Given the description of an element on the screen output the (x, y) to click on. 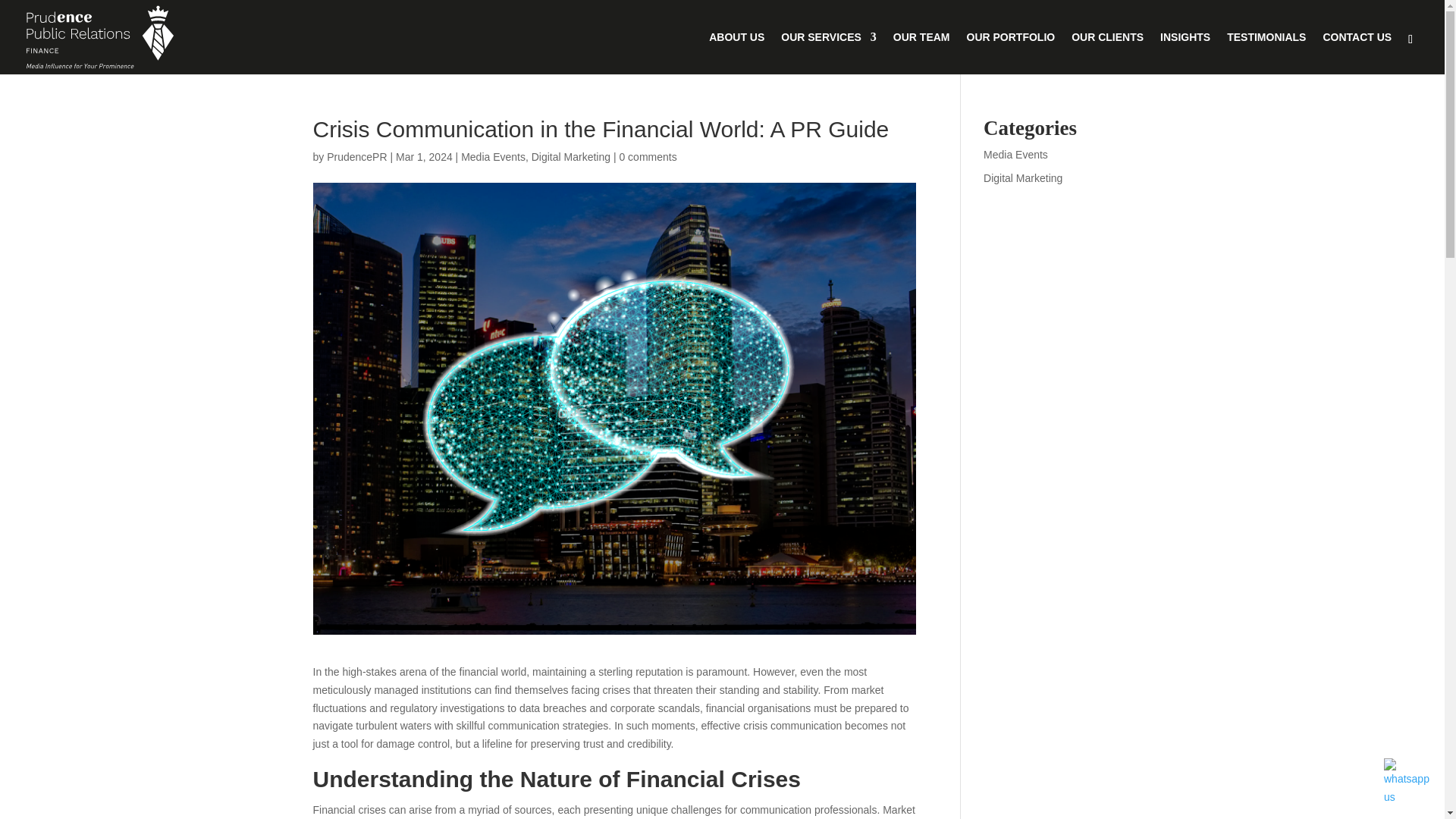
Digital Marketing (1023, 177)
Digital Marketing (570, 156)
OUR SERVICES (828, 52)
0 comments (647, 156)
INSIGHTS (1184, 52)
ABOUT US (736, 52)
PrudencePR (356, 156)
Posts by PrudencePR (356, 156)
Media Events (1016, 154)
OUR CLIENTS (1106, 52)
OUR PORTFOLIO (1010, 52)
Media Events (493, 156)
CONTACT US (1356, 52)
OUR TEAM (921, 52)
TESTIMONIALS (1266, 52)
